Given the description of an element on the screen output the (x, y) to click on. 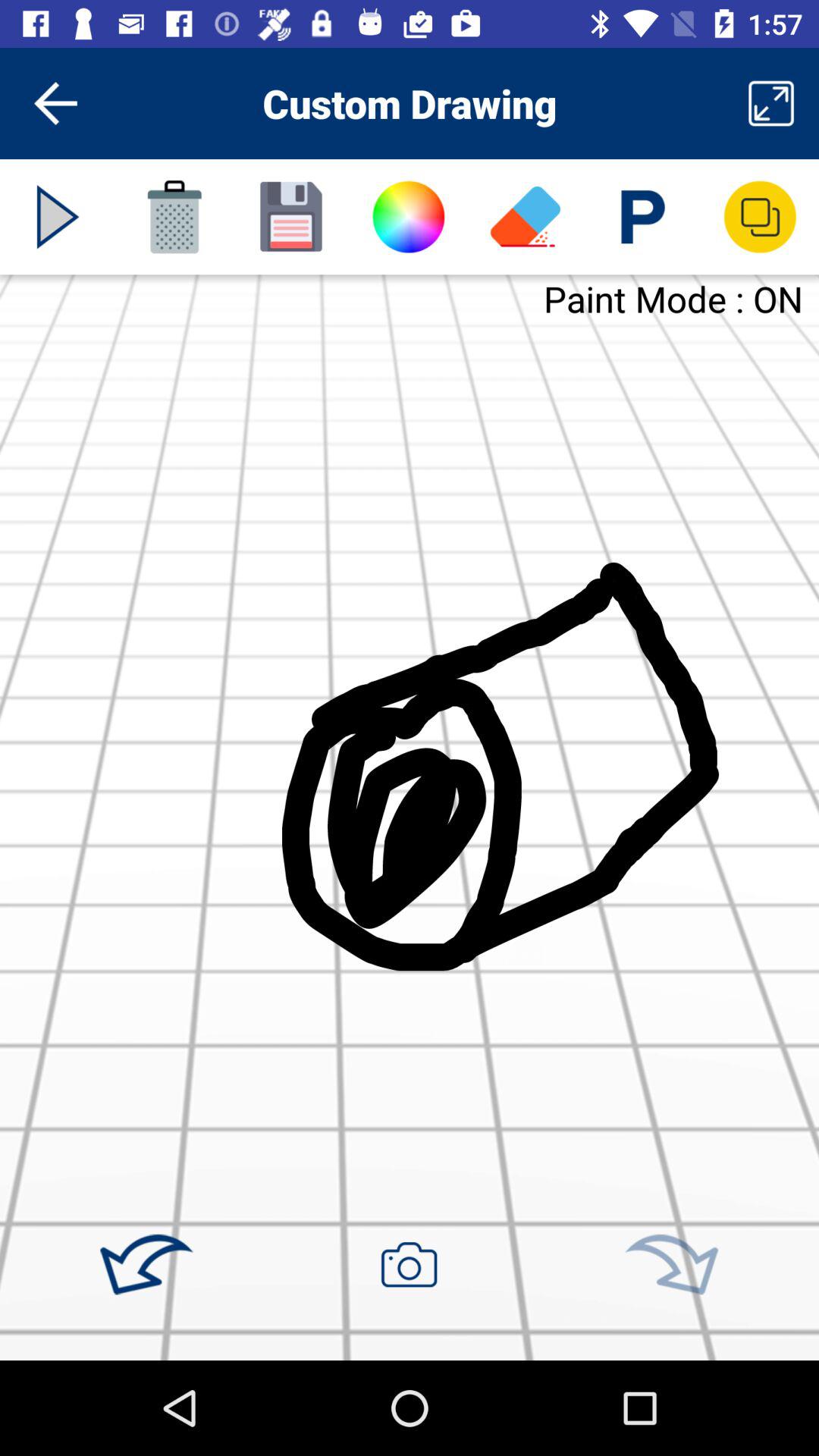
take a picture (408, 1264)
